Given the description of an element on the screen output the (x, y) to click on. 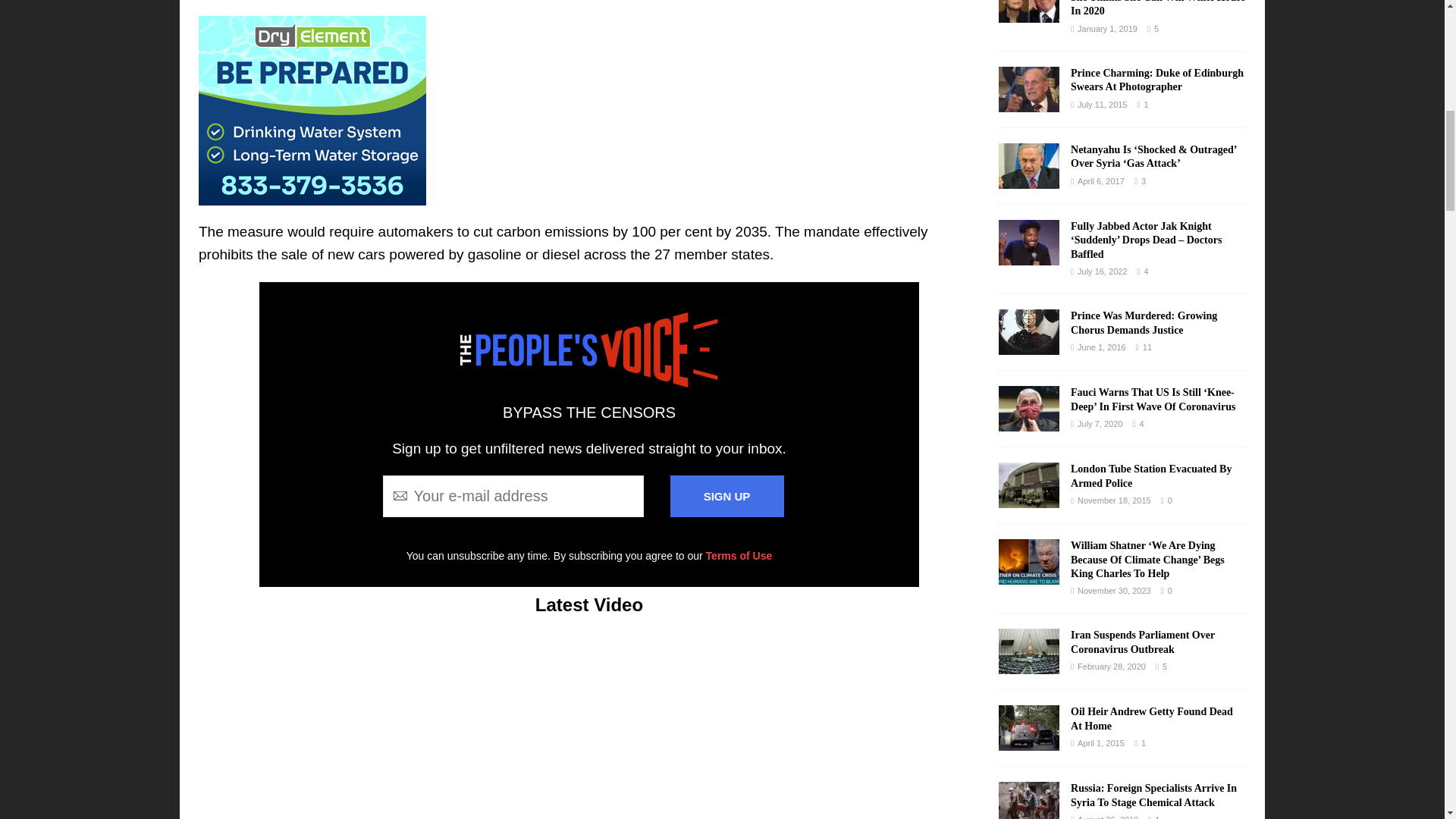
SIGN UP (726, 495)
